Given the description of an element on the screen output the (x, y) to click on. 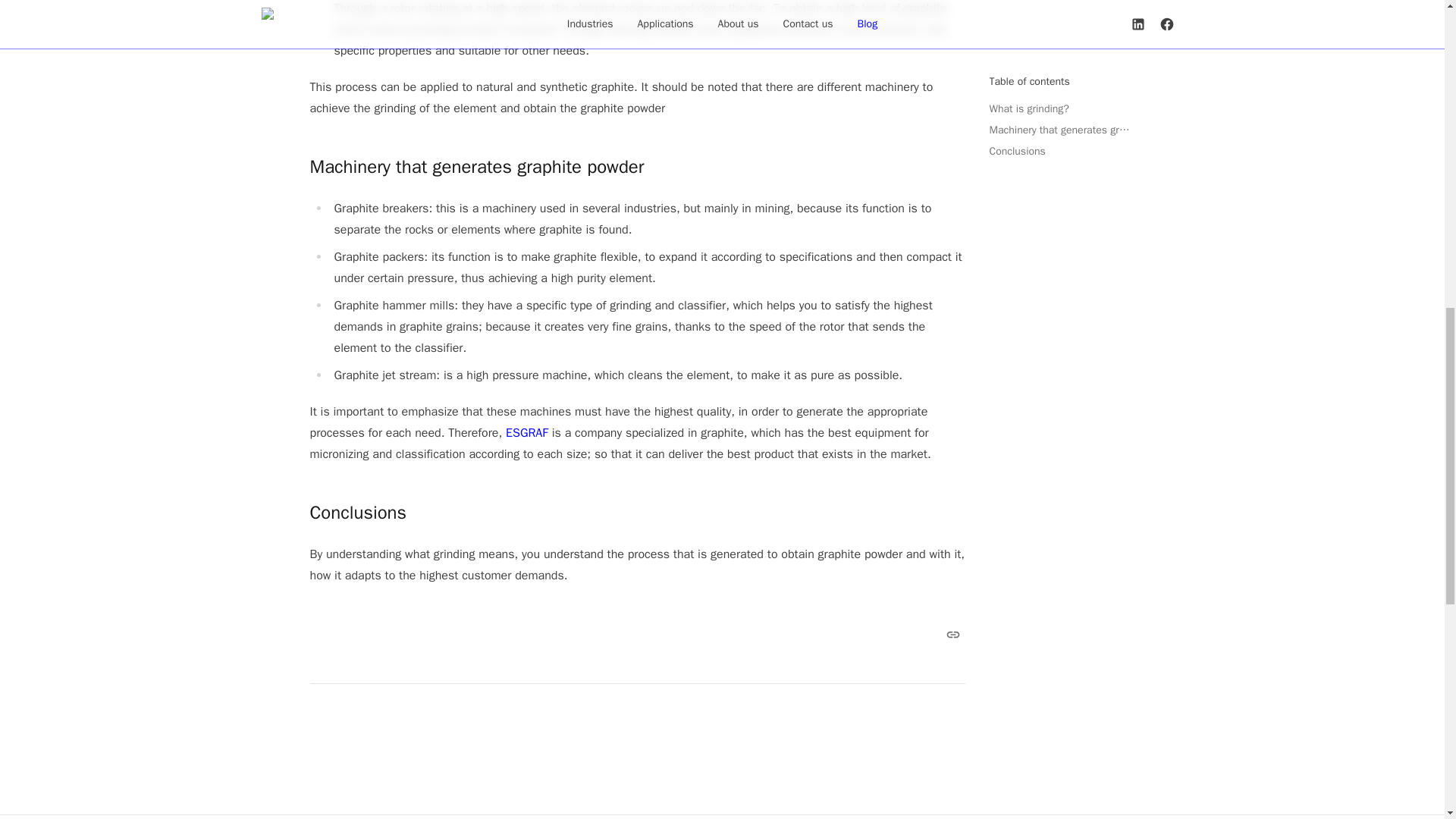
Conclusions (357, 512)
ESGRAF (526, 433)
Machinery that generates graphite powder (475, 166)
Machinery that generates graphite powder (635, 167)
Conclusions (635, 513)
